Given the description of an element on the screen output the (x, y) to click on. 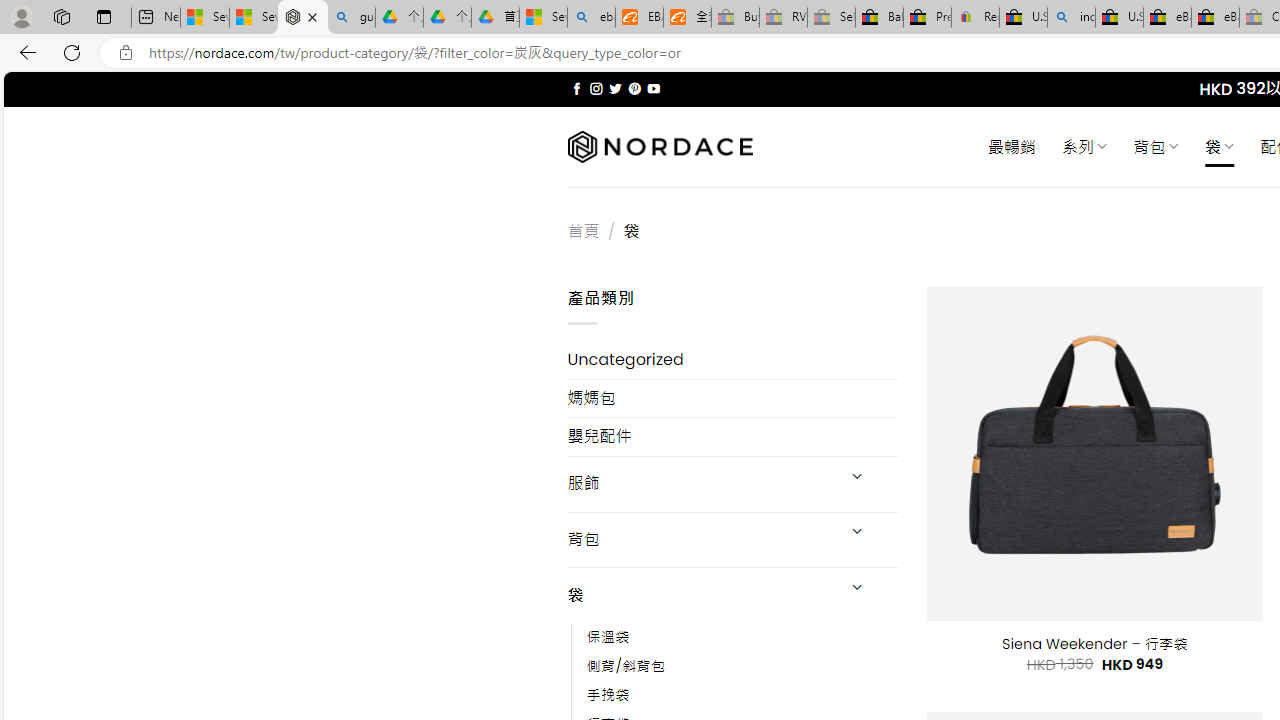
Buy Auto Parts & Accessories | eBay - Sleeping (735, 17)
U.S. State Privacy Disclosures - eBay Inc. (1119, 17)
including - Search (1071, 17)
Follow on Twitter (615, 88)
